Given the description of an element on the screen output the (x, y) to click on. 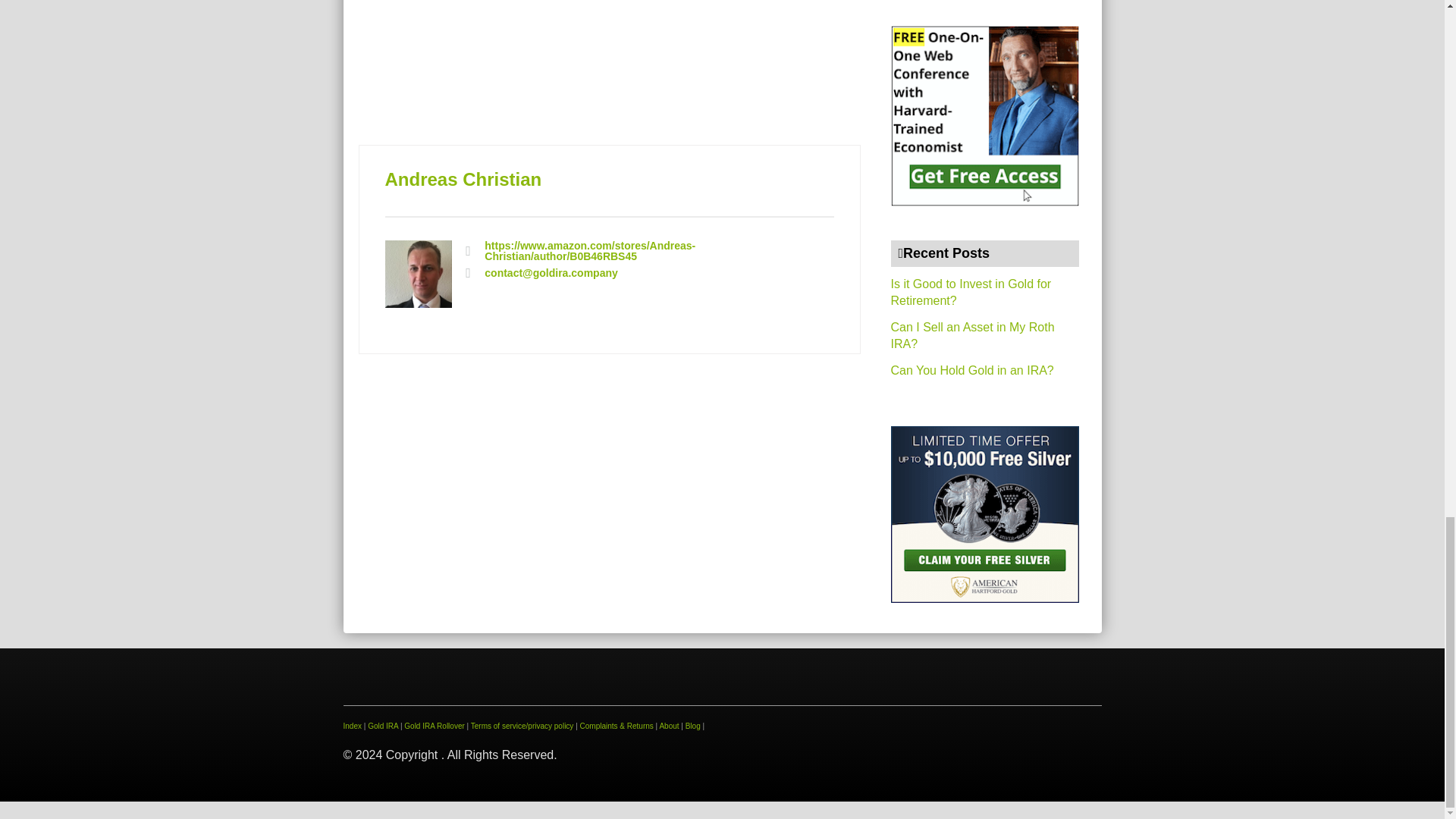
Can I Sell an Asset in My Roth IRA? (971, 335)
Gold IRA (382, 725)
About (668, 725)
Andreas Christian (463, 178)
Can You Hold Gold in an IRA? (970, 369)
Blog (692, 725)
Index (351, 725)
Gold IRA Rollover (434, 725)
Is it Good to Invest in Gold for Retirement? (970, 292)
